Given the description of an element on the screen output the (x, y) to click on. 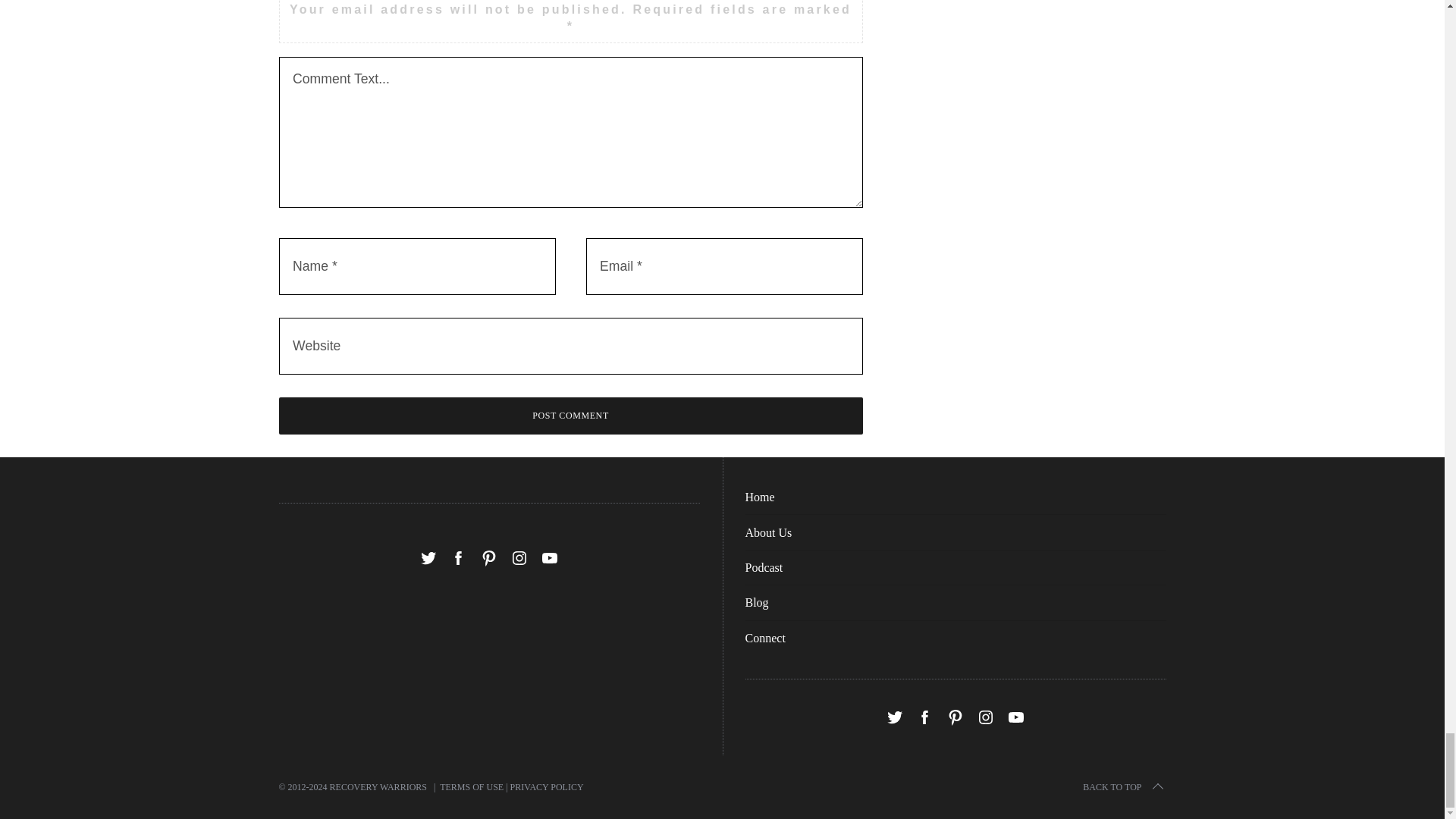
Post Comment (571, 415)
